Given the description of an element on the screen output the (x, y) to click on. 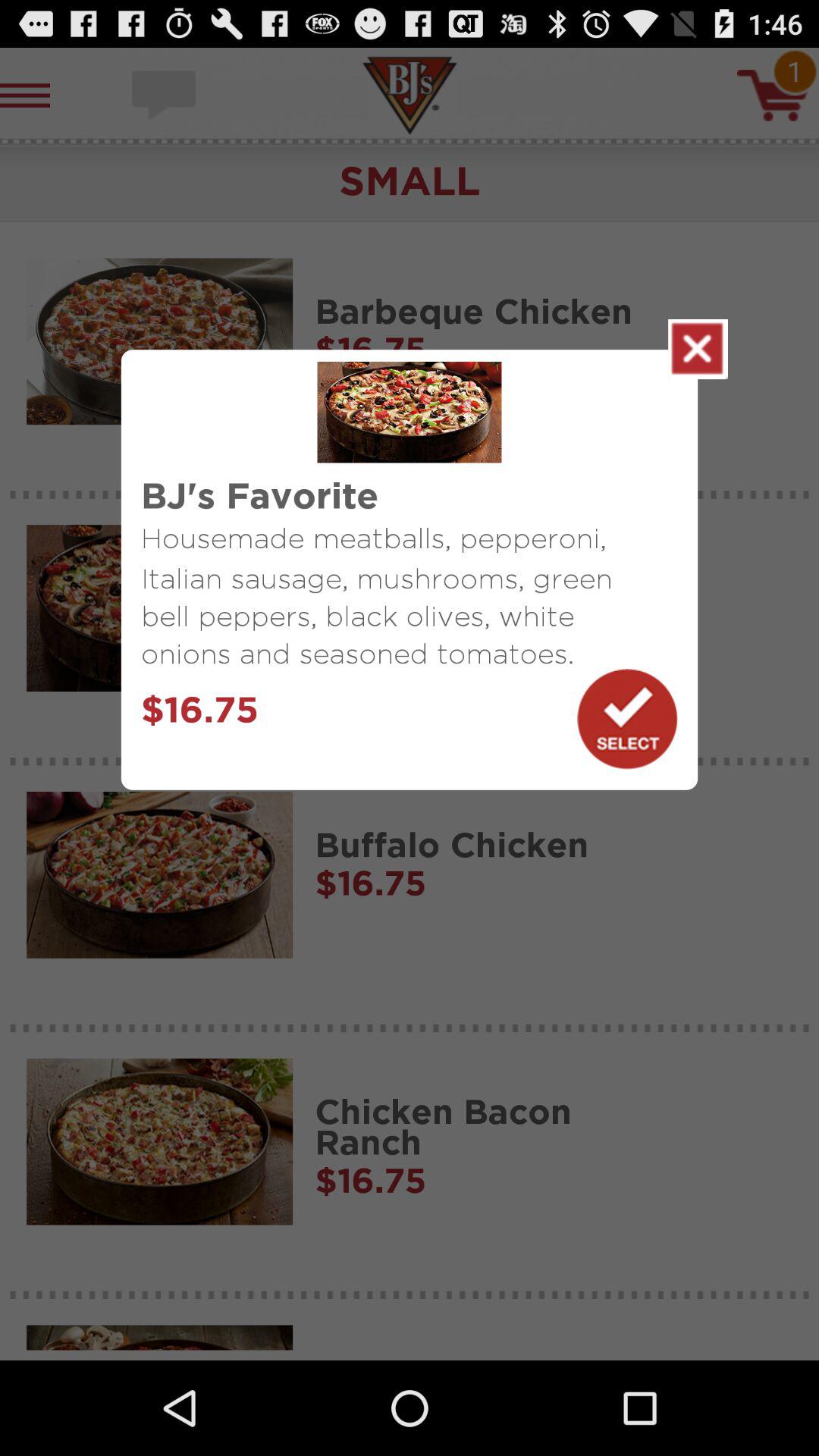
close menu item (698, 349)
